Given the description of an element on the screen output the (x, y) to click on. 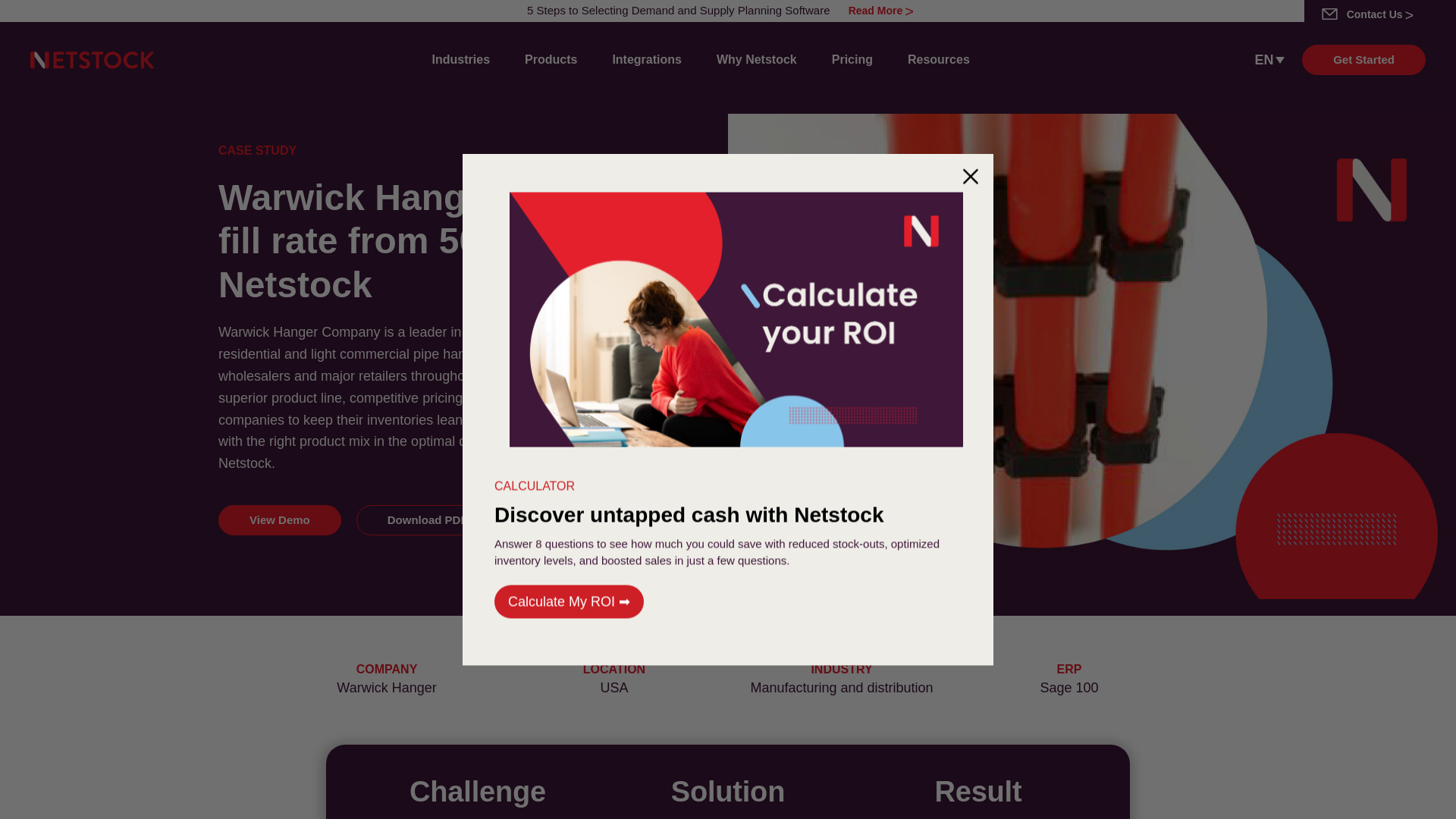
Read More (880, 10)
